Given the description of an element on the screen output the (x, y) to click on. 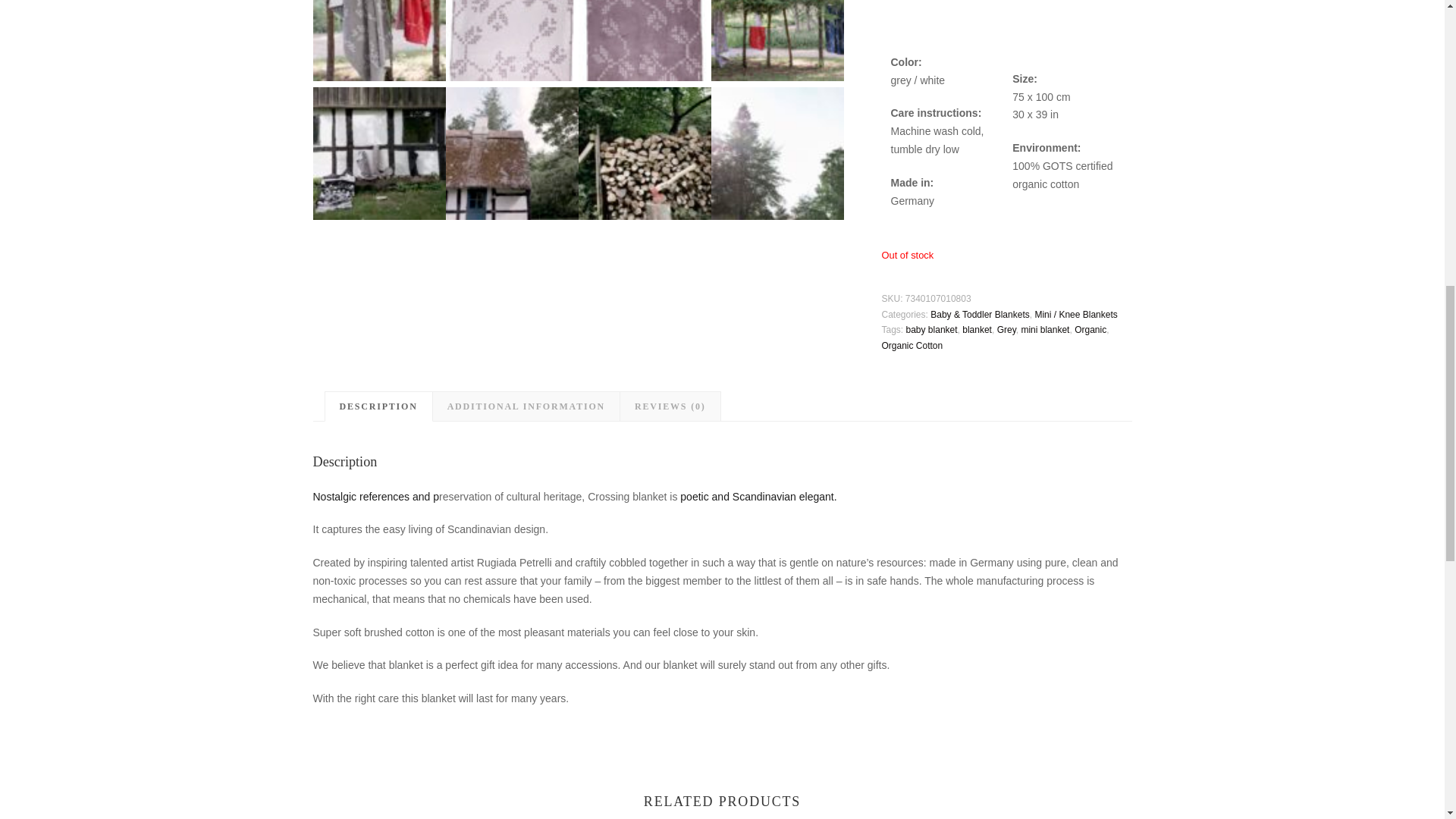
Soft organic cotton blanket with Crossing design pattern (379, 40)
FabGoose values are quality and attention to details (644, 153)
1841 (777, 153)
1783 (777, 40)
3452 (379, 153)
1563 (511, 153)
